Given the description of an element on the screen output the (x, y) to click on. 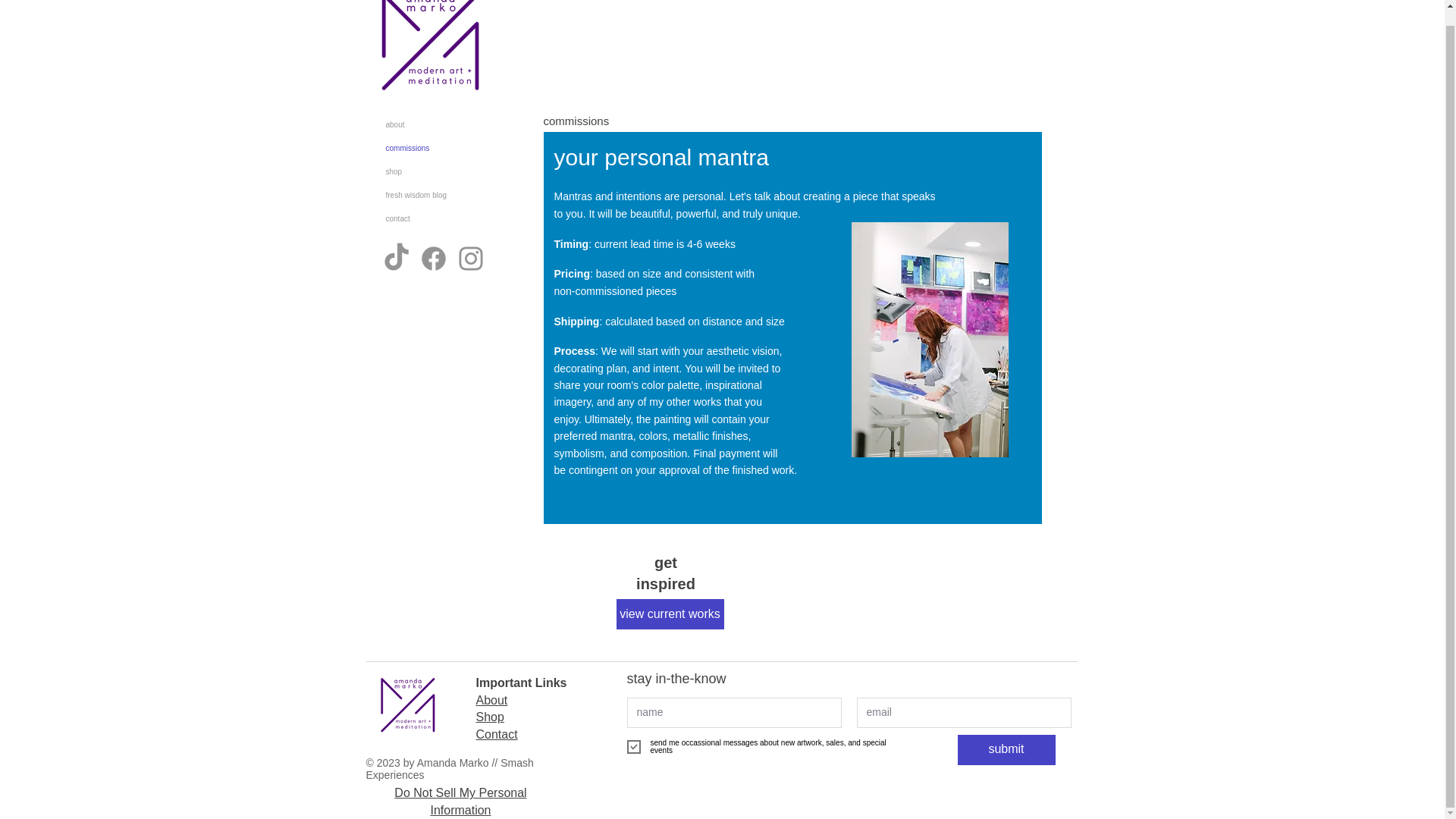
About (492, 699)
contact (434, 218)
submit (1005, 749)
view current works (669, 613)
about (434, 124)
shop (434, 171)
fresh wisdom blog (434, 195)
Contact (497, 734)
Shop (489, 716)
commissions (434, 147)
